Given the description of an element on the screen output the (x, y) to click on. 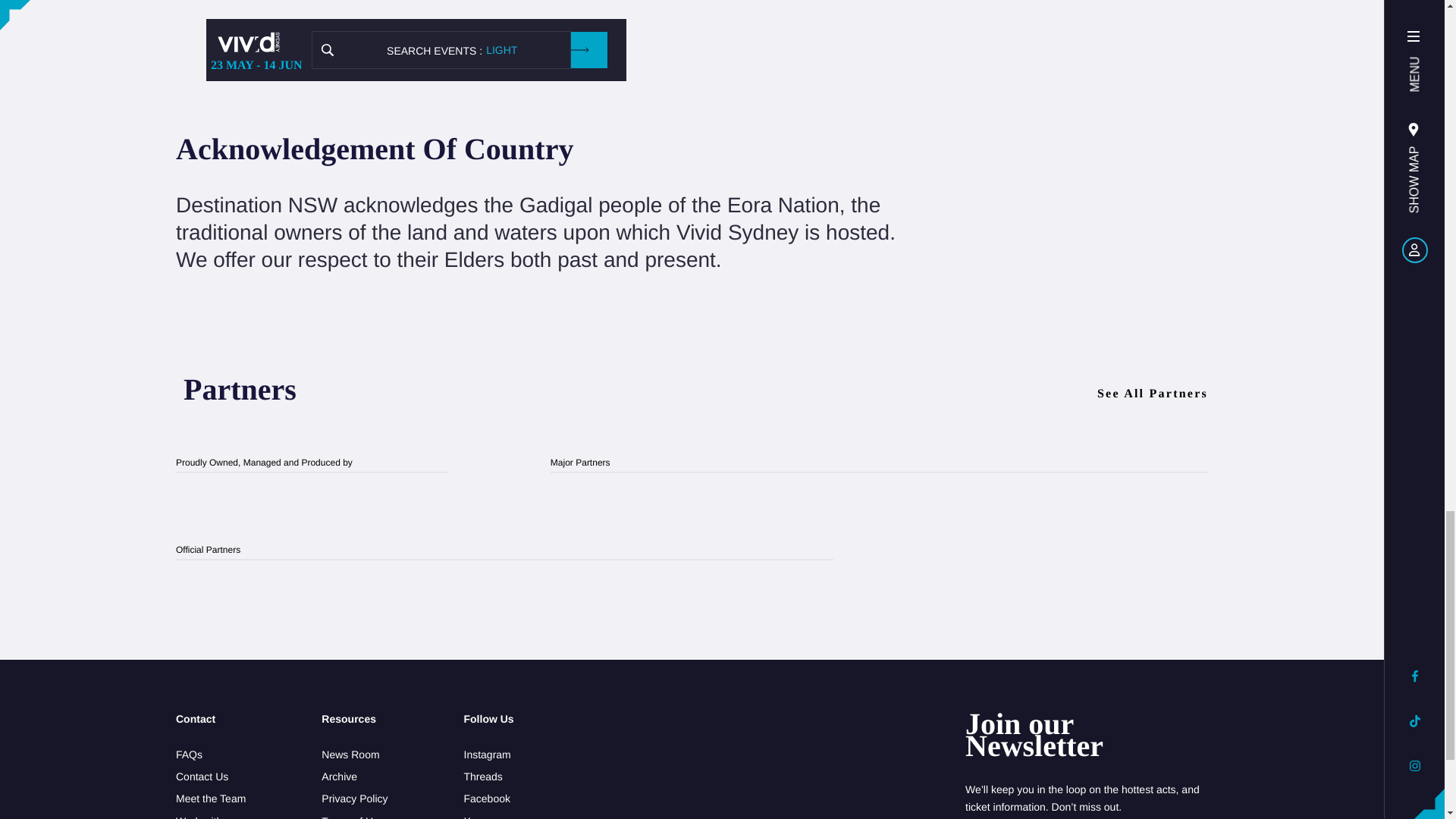
Instagram (488, 754)
Threads (488, 776)
Archive (354, 776)
News Room (354, 754)
